Given the description of an element on the screen output the (x, y) to click on. 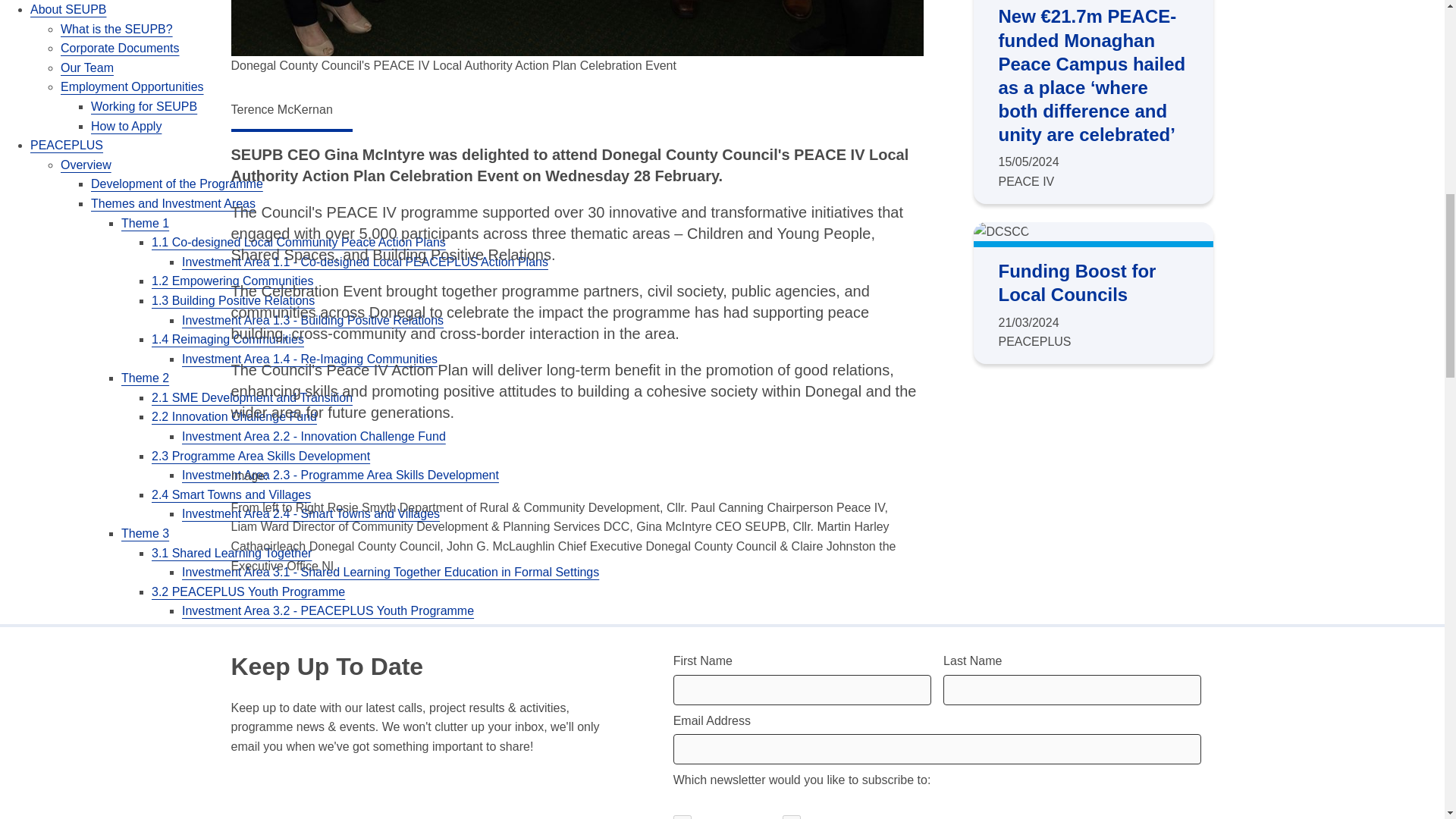
ca28ff2d01 (791, 816)
819661ec74 (681, 816)
